Given the description of an element on the screen output the (x, y) to click on. 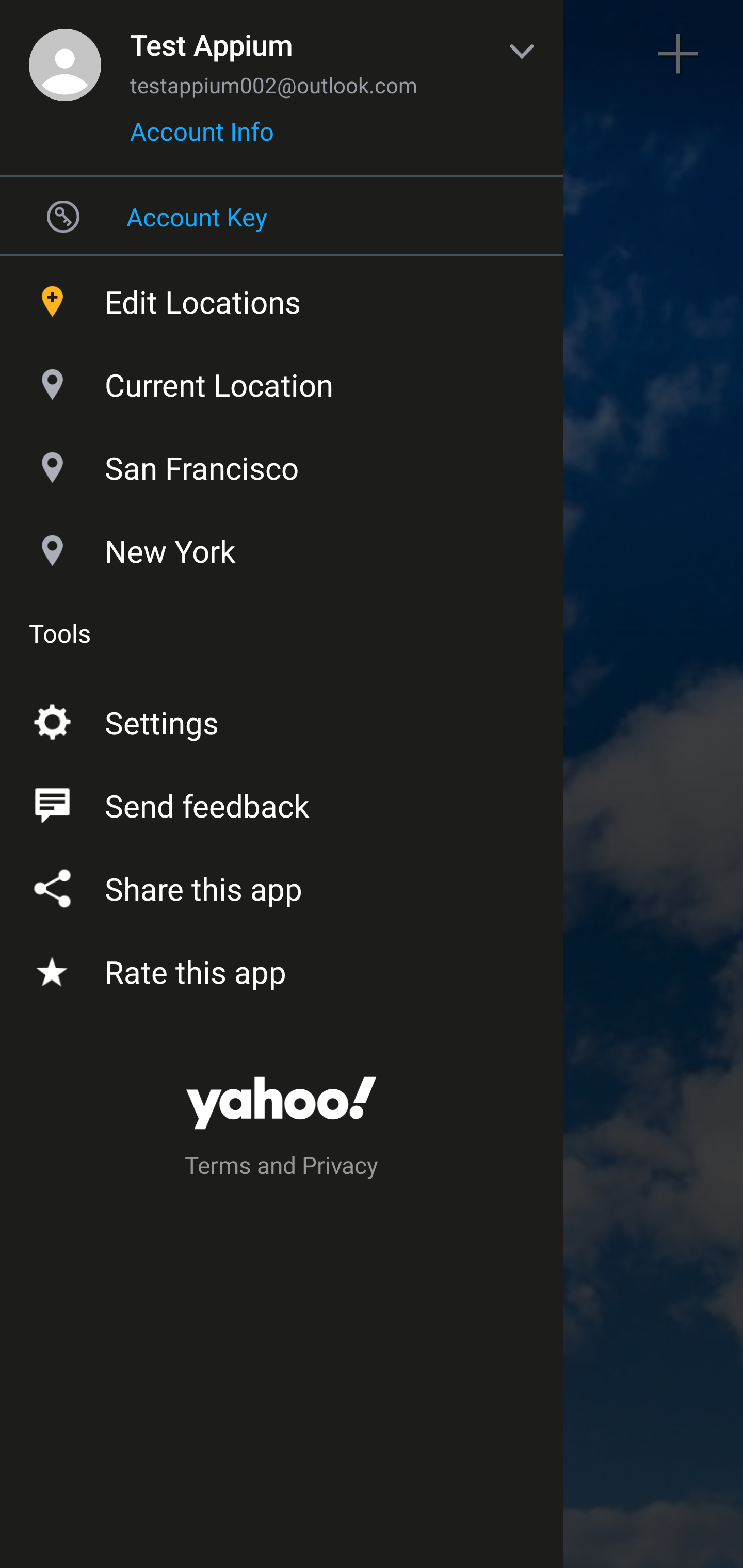
Sidebar (64, 54)
Account Info (202, 137)
Account Key (281, 216)
Edit Locations (281, 296)
Current Location (281, 379)
San Francisco (281, 462)
New York (281, 546)
Settings (281, 718)
Send feedback (281, 801)
Share this app (281, 884)
Terms and Privacy Terms and privacy button (281, 1168)
